Given the description of an element on the screen output the (x, y) to click on. 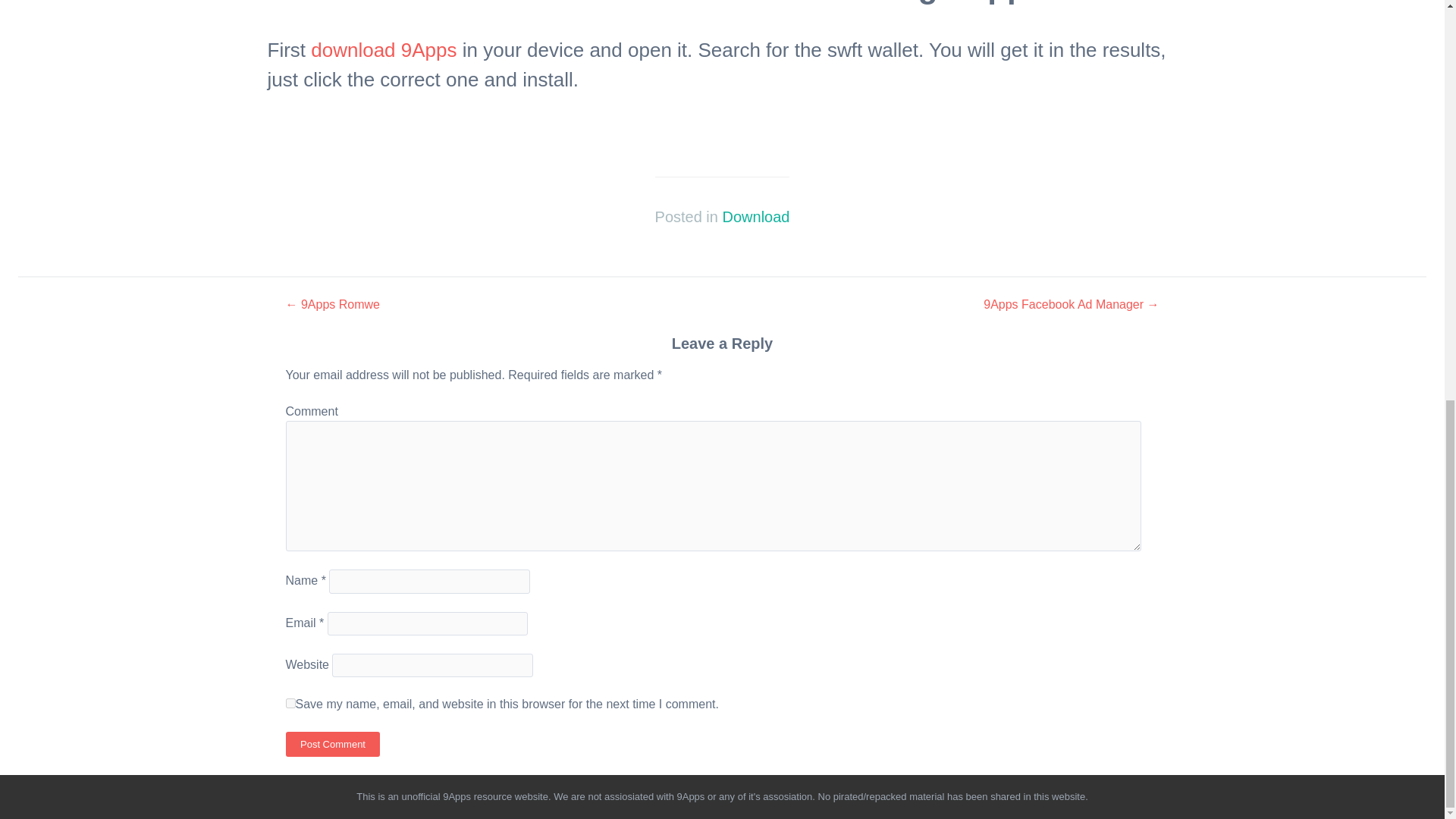
Download (755, 216)
yes (290, 703)
download 9Apps (384, 49)
9Apps (456, 796)
Post Comment (332, 744)
Post Comment (332, 744)
